Given the description of an element on the screen output the (x, y) to click on. 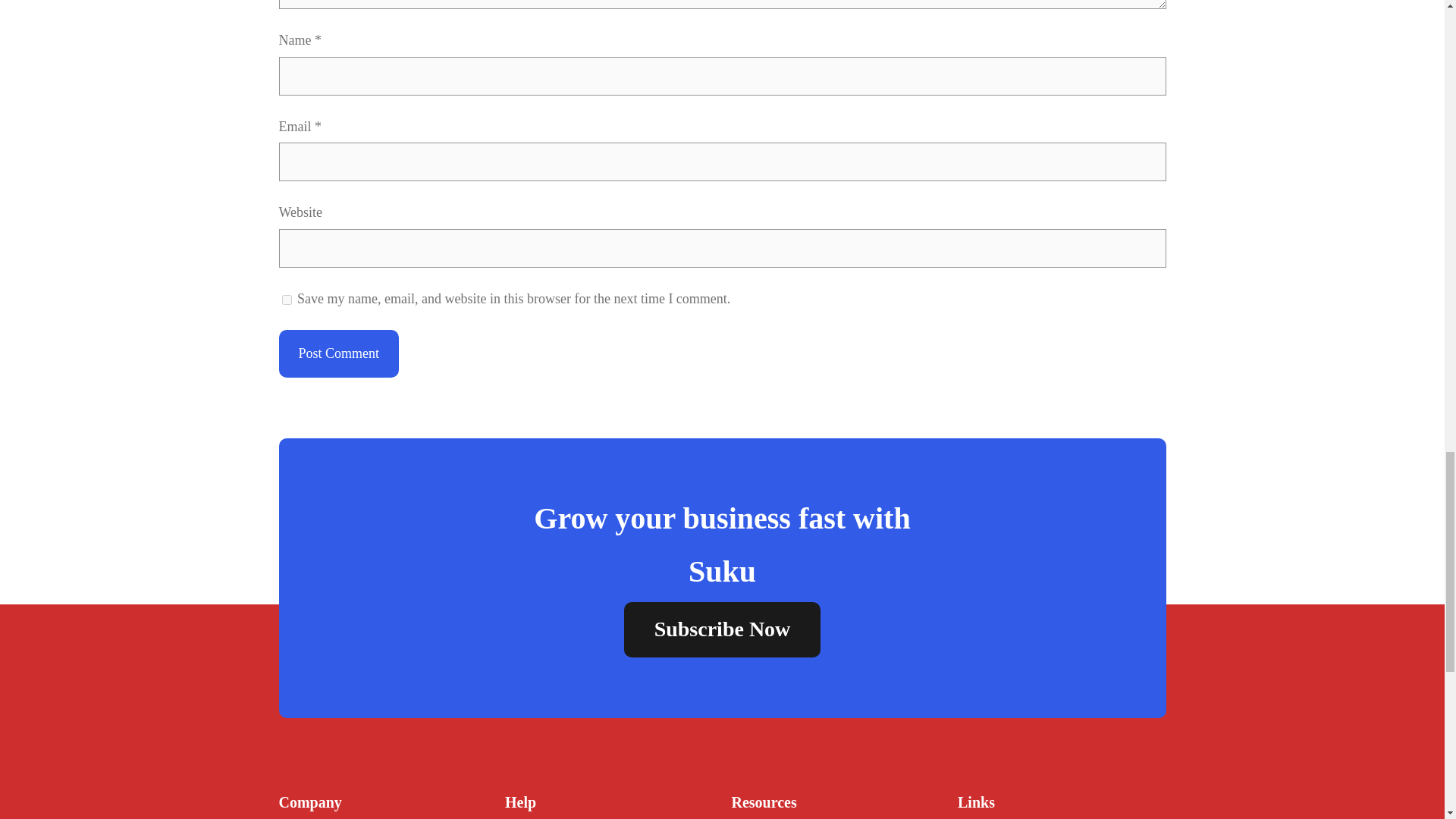
Post Comment (338, 353)
Post Comment (338, 353)
Subscribe Now (721, 629)
